Given the description of an element on the screen output the (x, y) to click on. 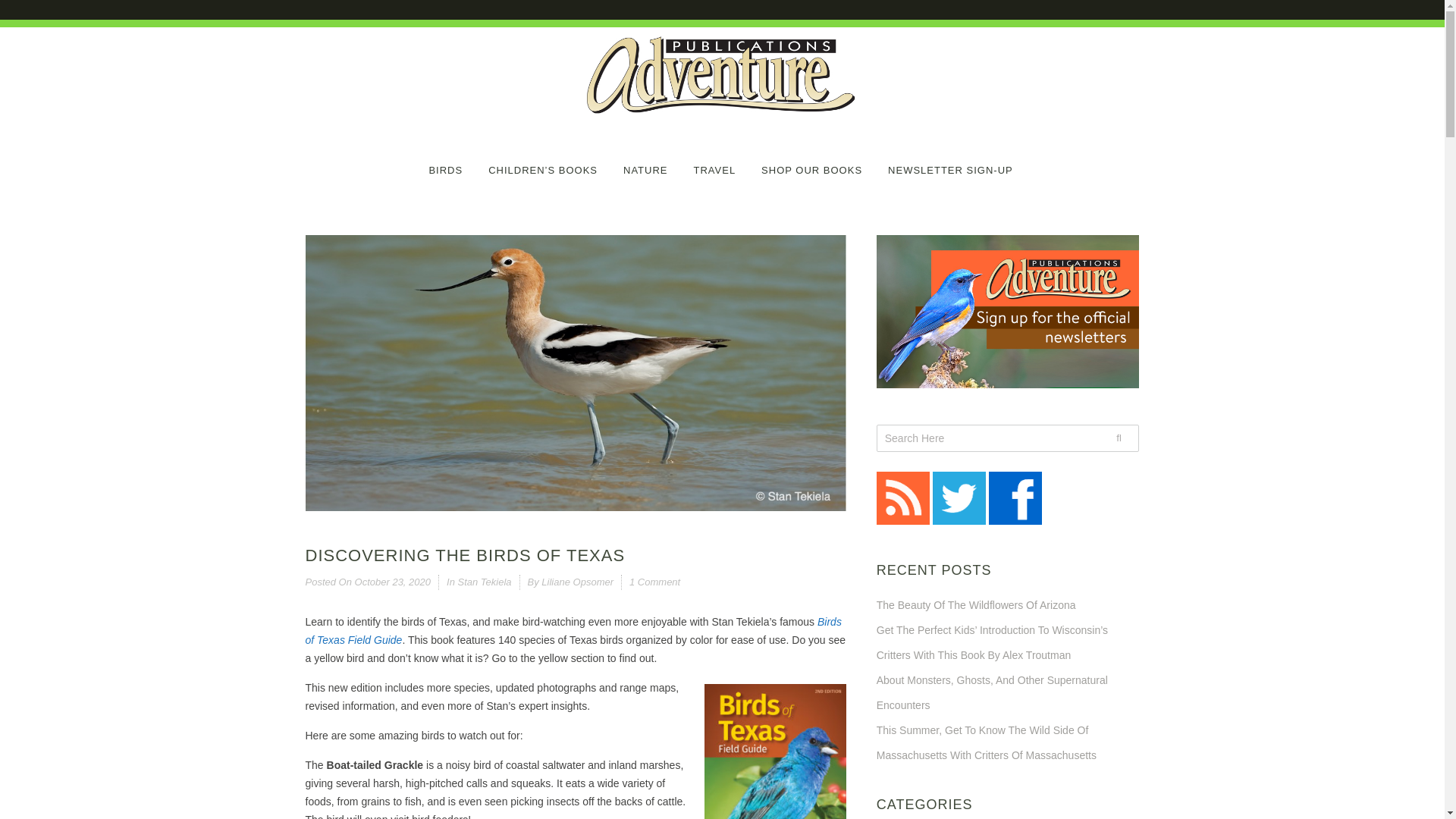
Liliane Opsomer (576, 582)
SHOP OUR BOOKS (811, 161)
NEWSLETTER SIGN-UP (950, 161)
1 Comment (653, 582)
Stan Tekiela (484, 582)
Birds of Texas Field Guide (572, 630)
